Given the description of an element on the screen output the (x, y) to click on. 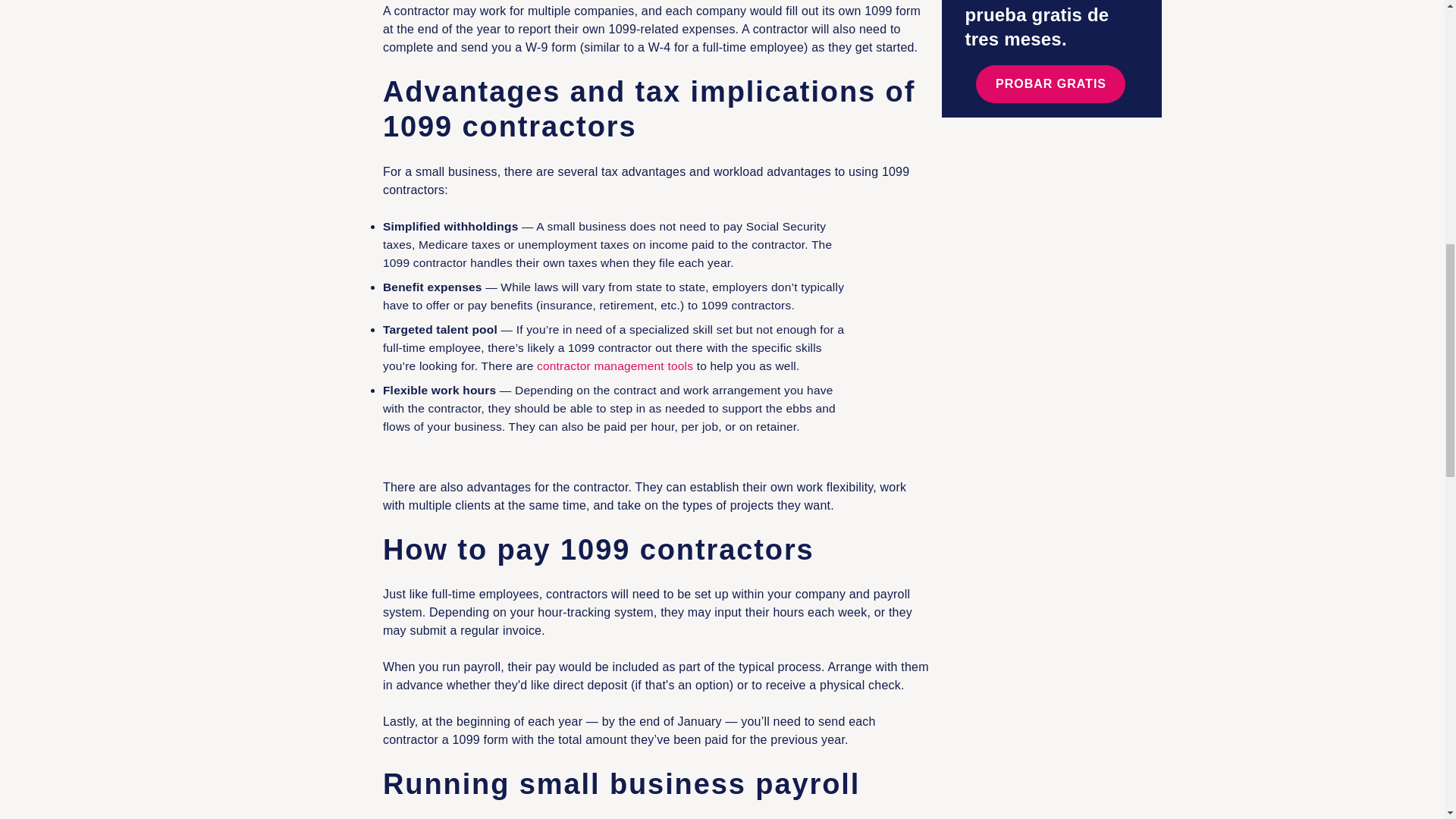
contractor management tools (615, 365)
PROBAR GRATIS (1050, 84)
Go to ADP WorkMarket Page (615, 365)
